Given the description of an element on the screen output the (x, y) to click on. 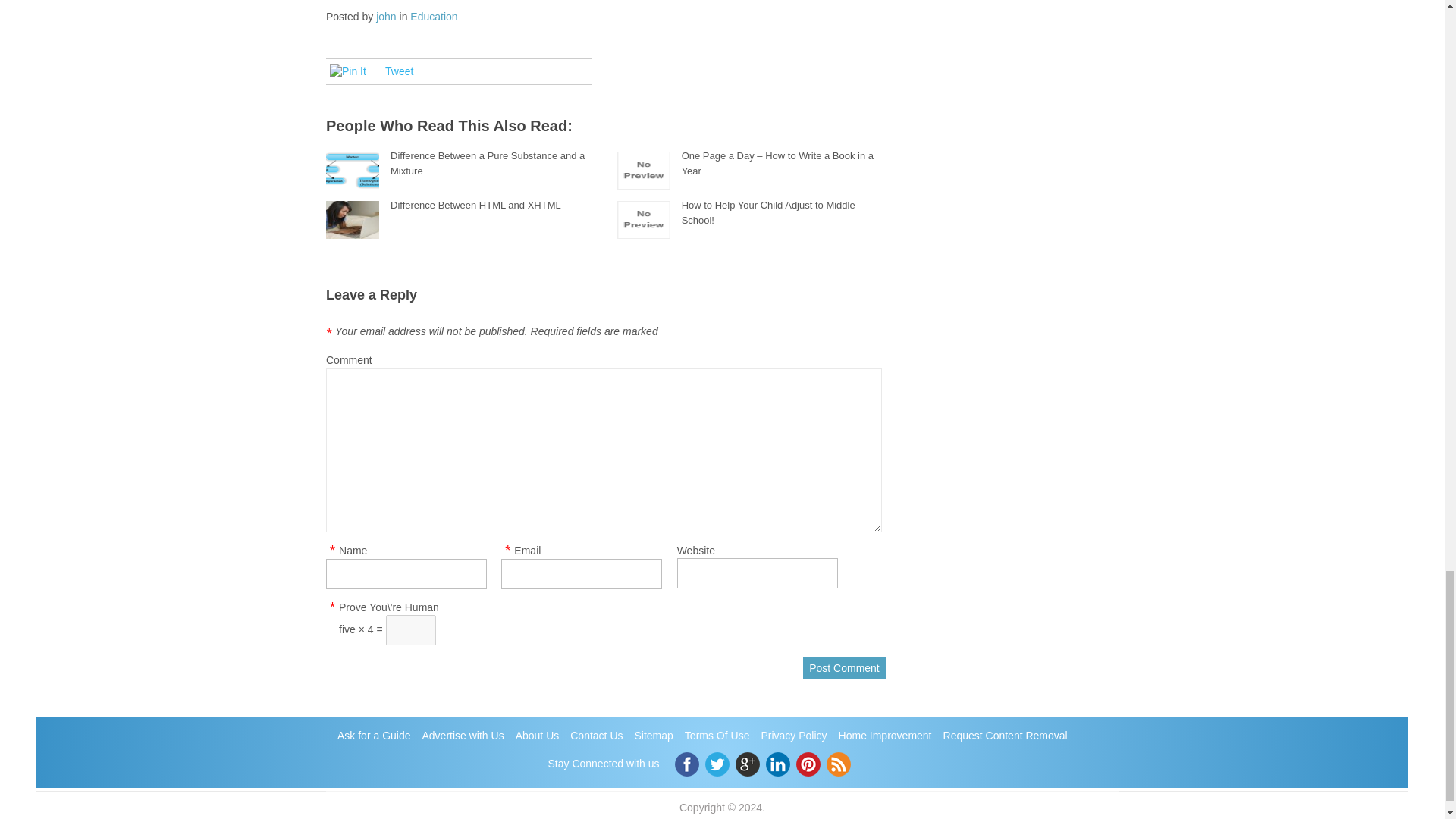
Post Comment (844, 667)
Posts by john (385, 16)
Tweet (399, 70)
Difference Between a Pure Substance and a Mixture (487, 162)
Post Comment (844, 667)
Difference Between HTML and XHTML (475, 204)
Education (433, 16)
john (385, 16)
Advertisement (601, 37)
How to Help Your Child Adjust to Middle School! (768, 212)
